Given the description of an element on the screen output the (x, y) to click on. 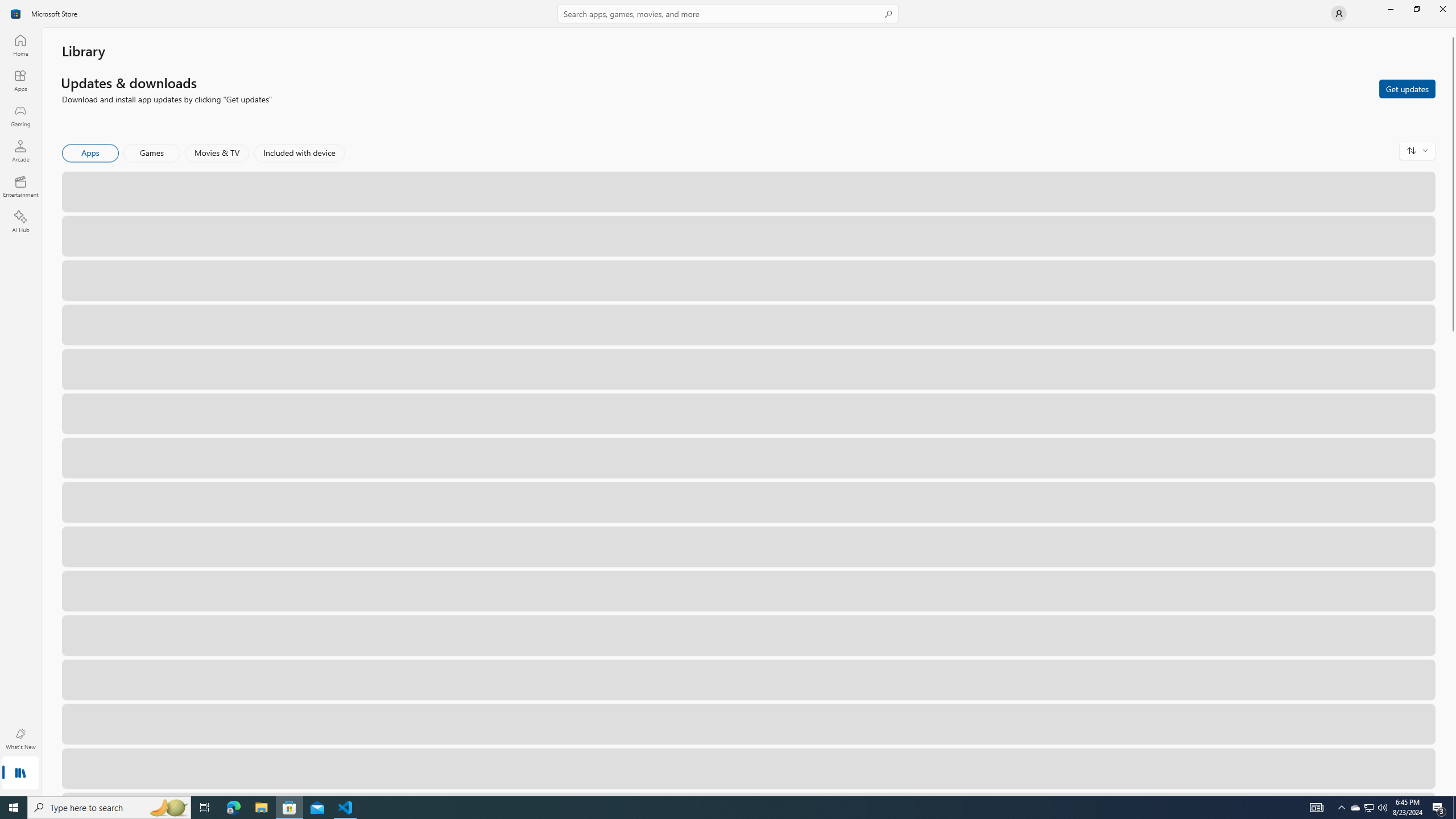
Sort and filter (1417, 149)
Arcade (20, 150)
Movies & TV (216, 153)
Games (151, 153)
Class: Image (15, 13)
Restore Microsoft Store (1416, 9)
Home (20, 45)
Apps (20, 80)
Get updates (1406, 88)
Close Microsoft Store (1442, 9)
Search (727, 13)
Gaming (20, 115)
Apps (90, 153)
User profile (1338, 13)
What's New (20, 738)
